Given the description of an element on the screen output the (x, y) to click on. 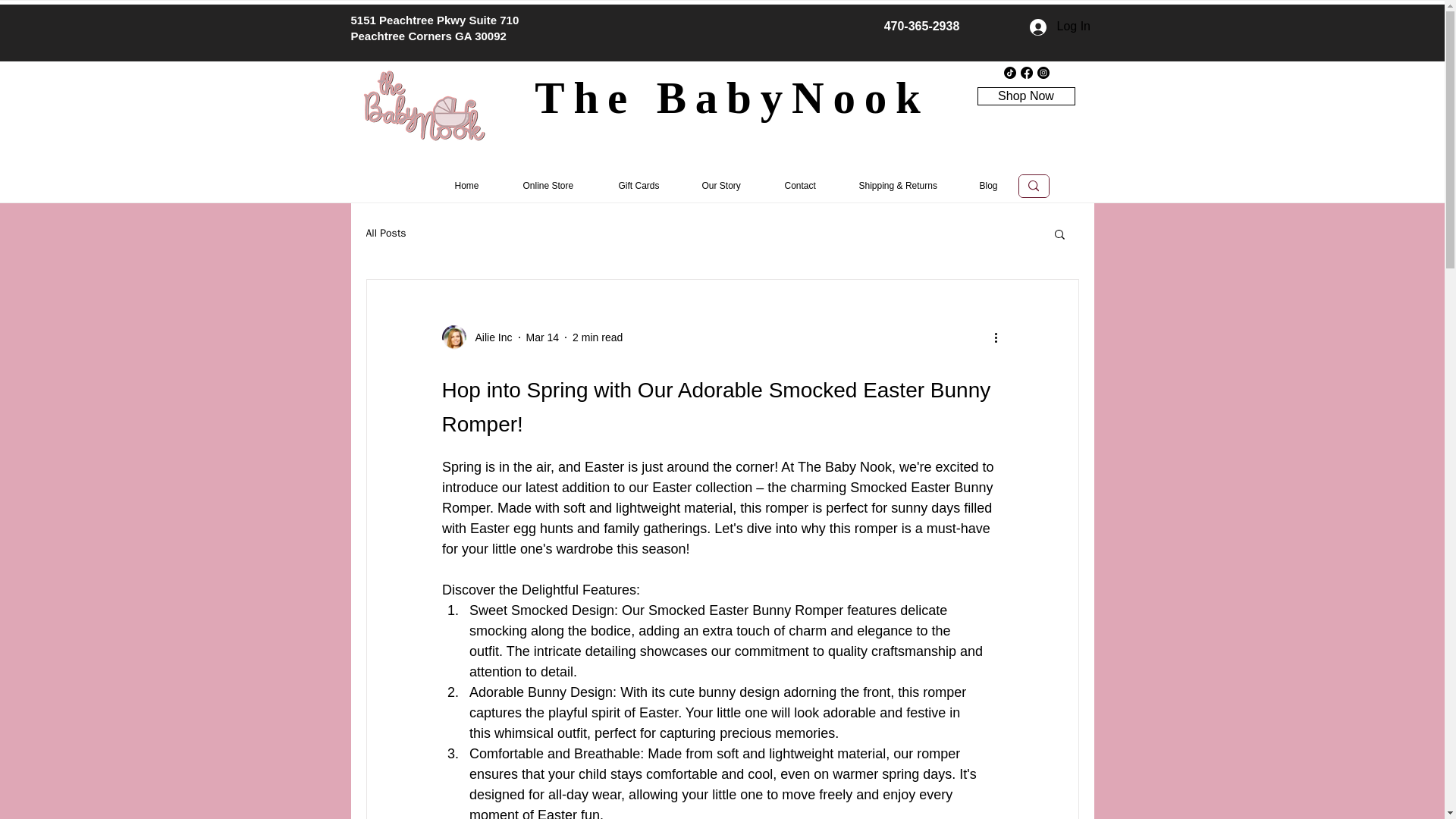
Our Story (726, 186)
All Posts (385, 233)
Gift Cards (643, 186)
Ailie Inc (476, 337)
2 min read (597, 336)
Home (472, 186)
Blog (993, 186)
Shop Now (1025, 95)
Log In (1043, 26)
Mar 14 (542, 336)
Contact (805, 186)
Ailie Inc (488, 336)
Online Store (554, 186)
The BabyNook (731, 97)
